Given the description of an element on the screen output the (x, y) to click on. 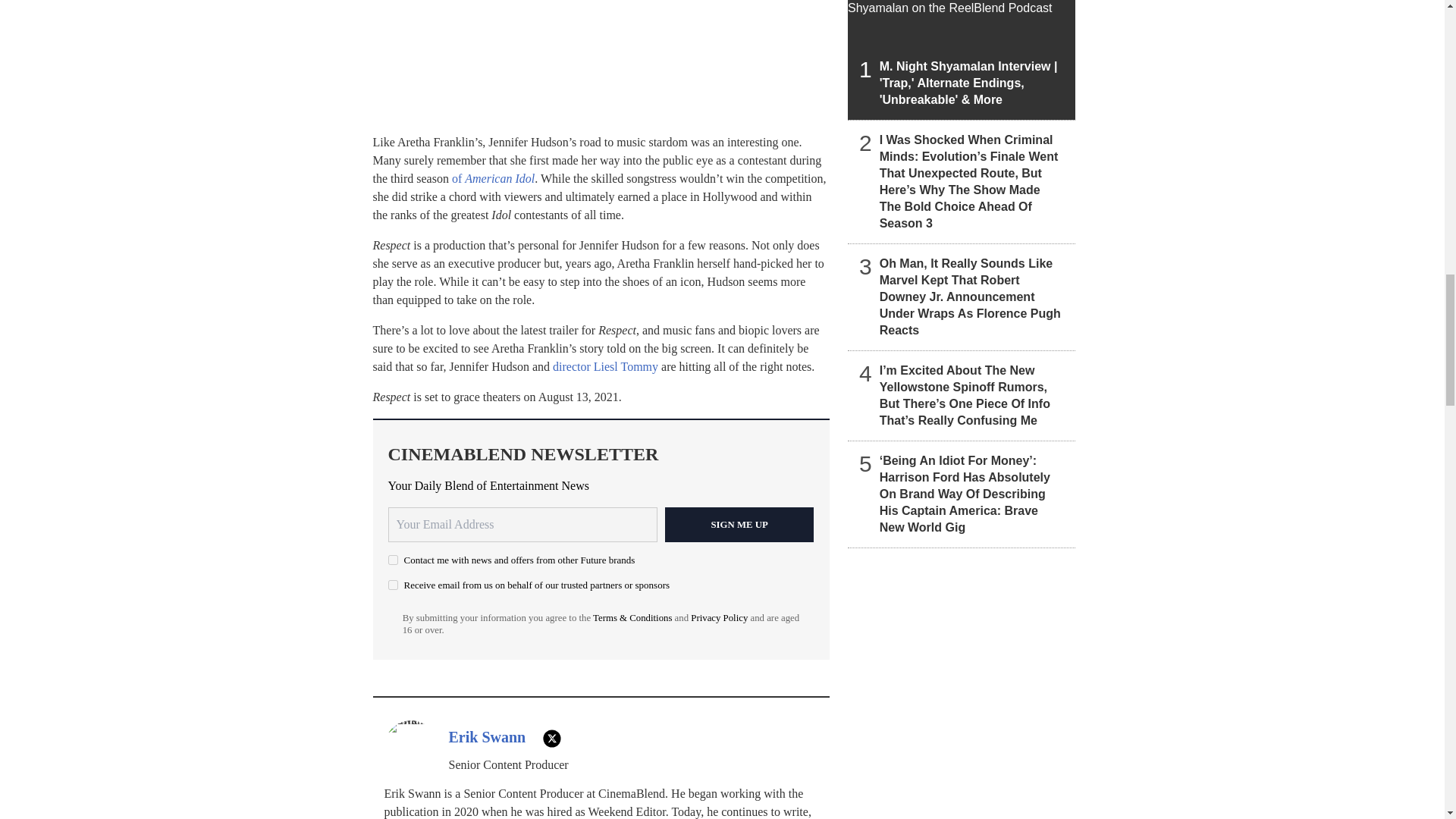
Sign me up (739, 524)
on (392, 560)
on (392, 584)
